Given the description of an element on the screen output the (x, y) to click on. 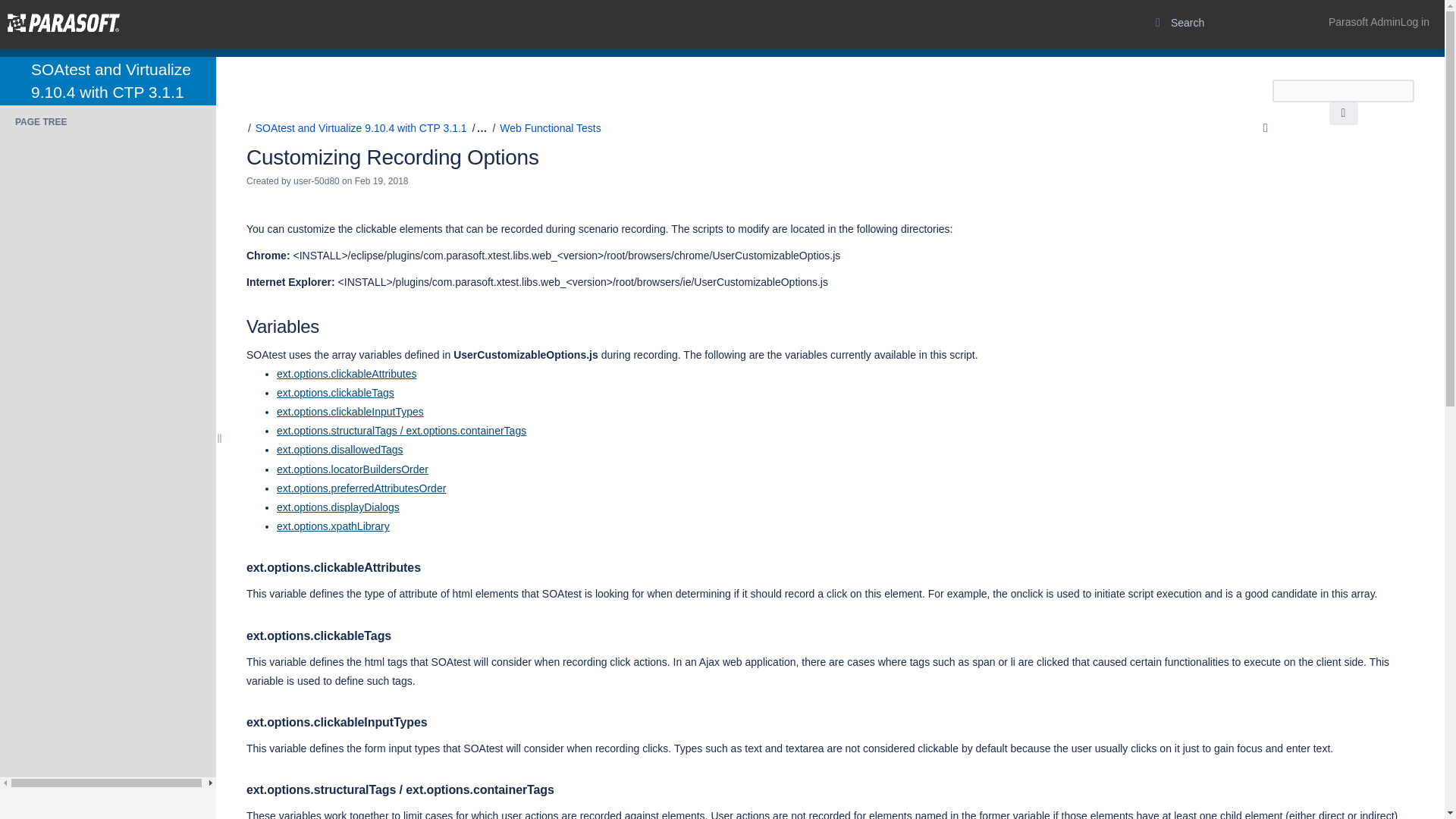
SOAtest and Virtualize 9.10.4 with CTP 3.1.1 (110, 80)
SOAtest and Virtualize 9.10.4 with CTP 3.1.1 (110, 80)
Log in (1378, 22)
SOAtest and Virtualize 9.10.4 with CTP 3.1.1 (361, 128)
Search (1341, 113)
